Given the description of an element on the screen output the (x, y) to click on. 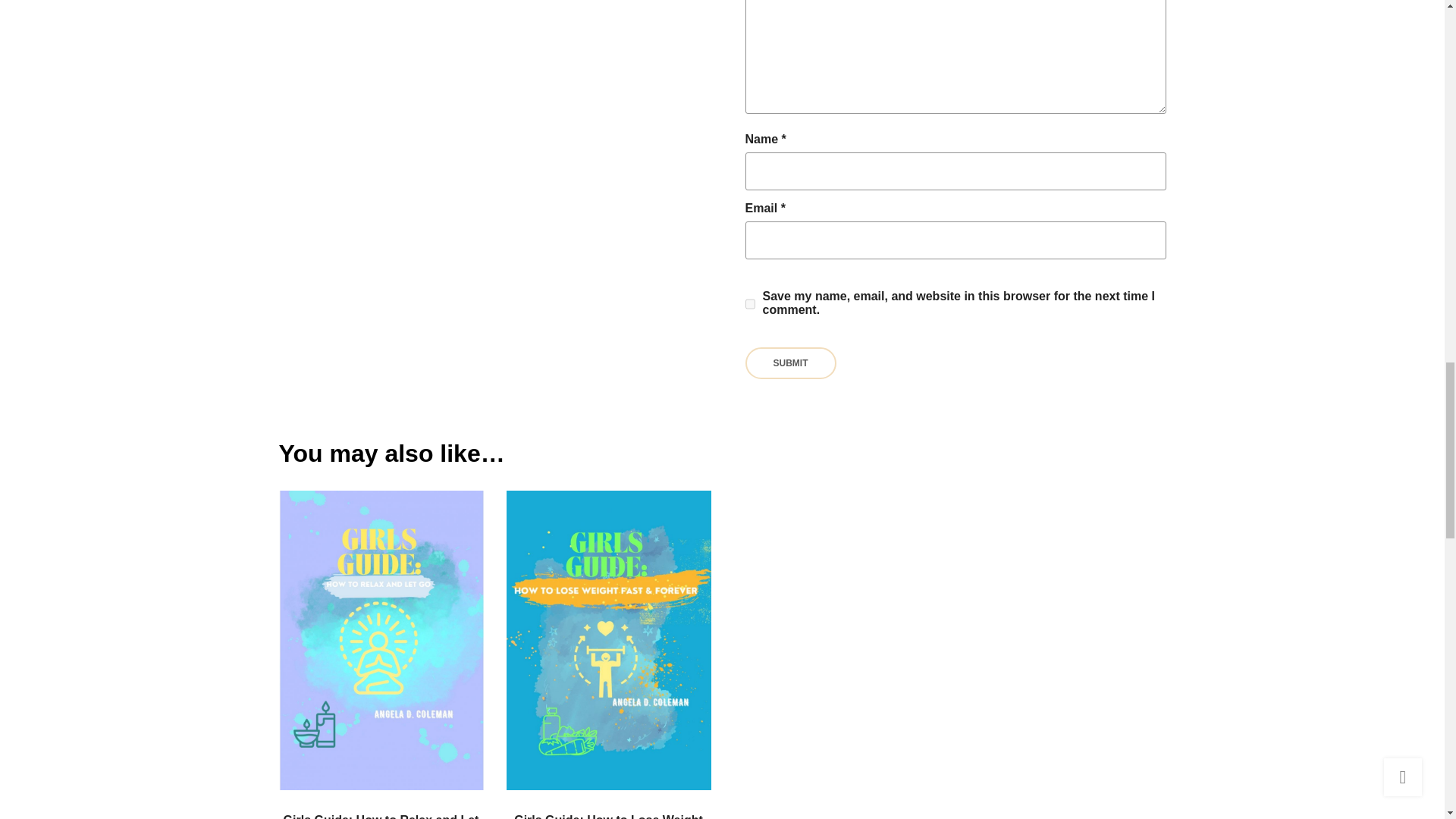
Submit (789, 363)
